Given the description of an element on the screen output the (x, y) to click on. 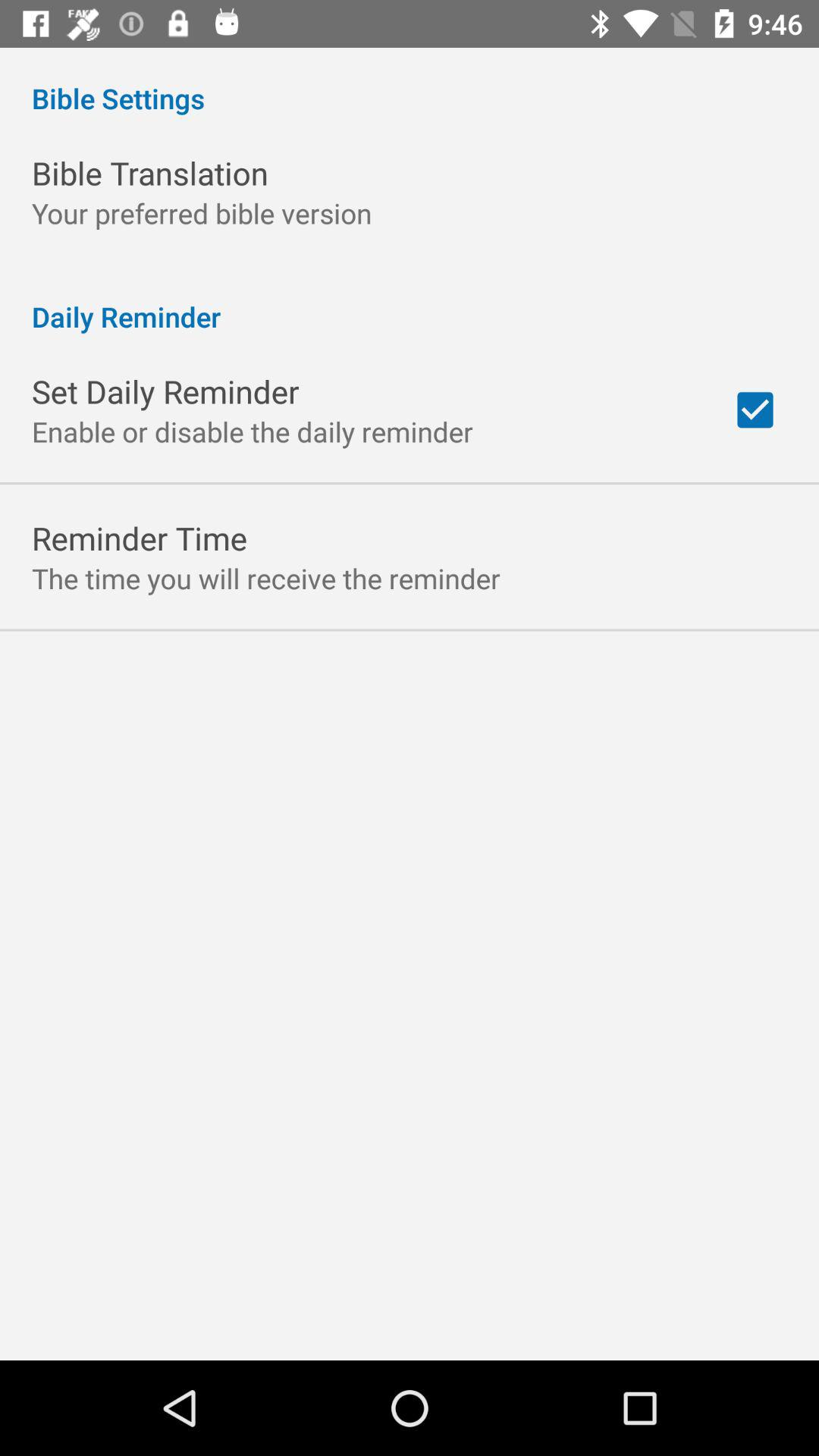
press the icon at the top right corner (755, 409)
